Given the description of an element on the screen output the (x, y) to click on. 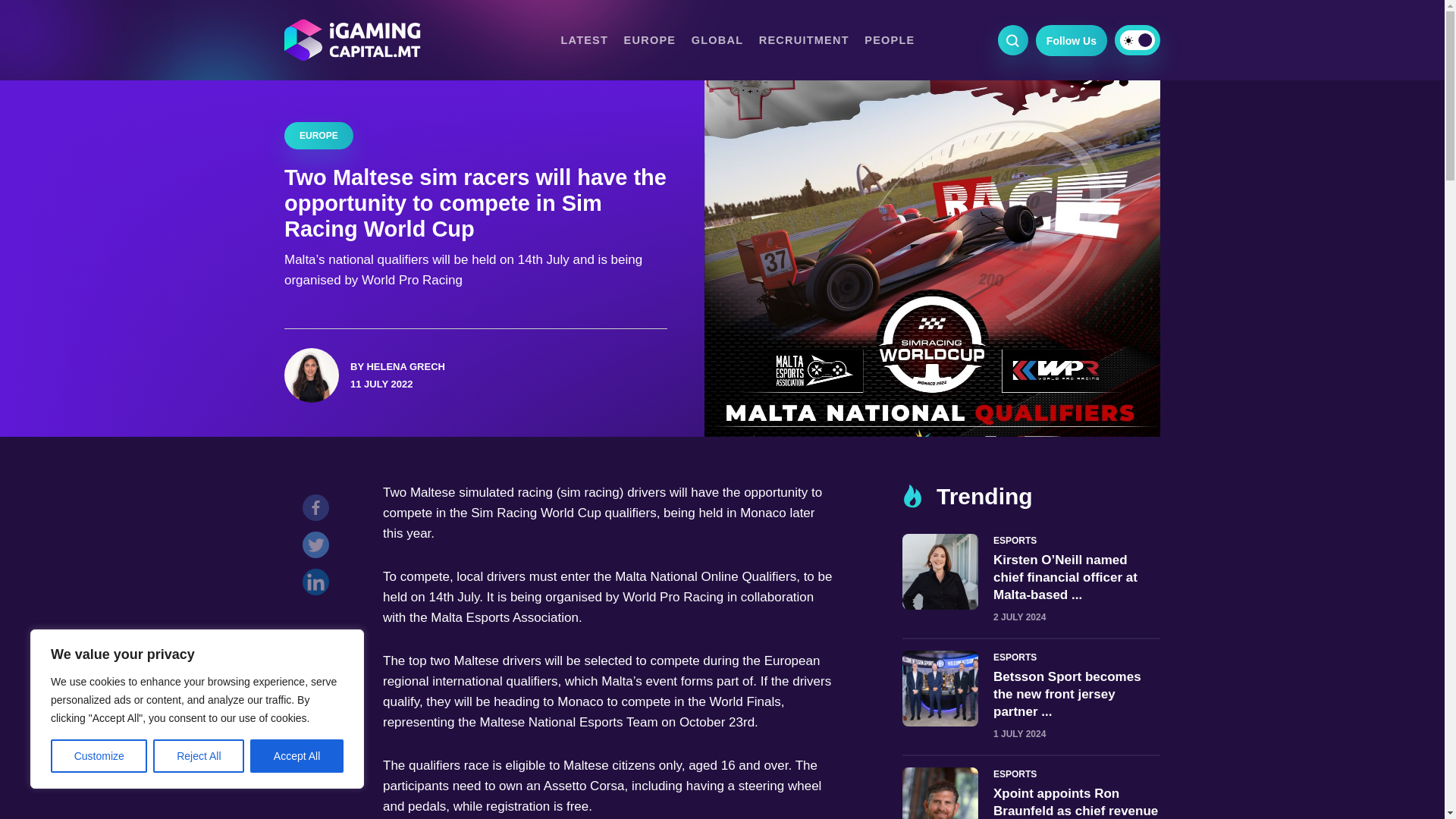
GLOBAL (717, 39)
RECRUITMENT (803, 39)
EUROPE (650, 39)
Twitter (319, 548)
Accept All (296, 756)
EUROPE (318, 135)
LATEST (584, 39)
Facebook (319, 511)
Reject All (198, 756)
Customize (98, 756)
Linkedin (319, 585)
PEOPLE (889, 39)
